Given the description of an element on the screen output the (x, y) to click on. 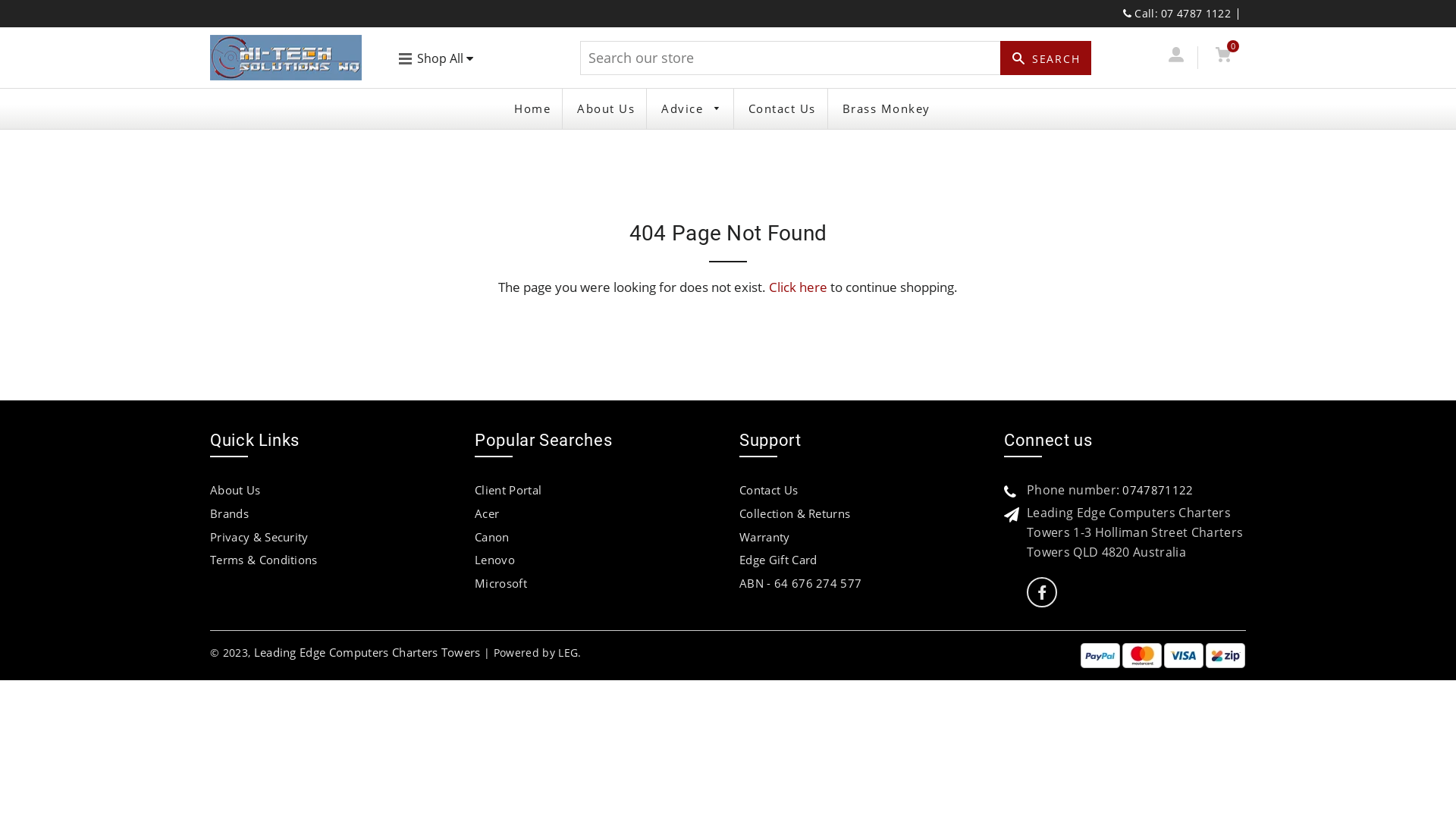
ABN - 64 676 274 577 Element type: text (800, 582)
Cart
0 Element type: text (1222, 56)
Privacy & Security Element type: text (259, 536)
Canon Element type: text (491, 536)
Contact Us Element type: text (782, 108)
About Us Element type: text (235, 489)
Home Element type: text (531, 108)
SEARCH Element type: text (1045, 57)
Click here Element type: text (797, 286)
0747871122 Element type: text (1157, 489)
Contact Us Element type: text (768, 489)
Lenovo Element type: text (494, 559)
About Us Element type: text (605, 108)
Terms & Conditions Element type: text (263, 559)
Client Portal Element type: text (507, 489)
Brands Element type: text (229, 512)
Brass Monkey Element type: text (886, 108)
Leading Edge Computers Charters Towers  on Facebook Element type: hover (1041, 592)
Collection & Returns Element type: text (794, 512)
Acer Element type: text (486, 512)
Warranty Element type: text (764, 536)
Log In Element type: text (1175, 56)
Advice Element type: text (691, 108)
Call: 07 4787 1122 Element type: text (1176, 13)
Leading Edge Computers Charters Towers Element type: text (368, 651)
Edge Gift Card Element type: text (777, 559)
Microsoft Element type: text (500, 582)
